Given the description of an element on the screen output the (x, y) to click on. 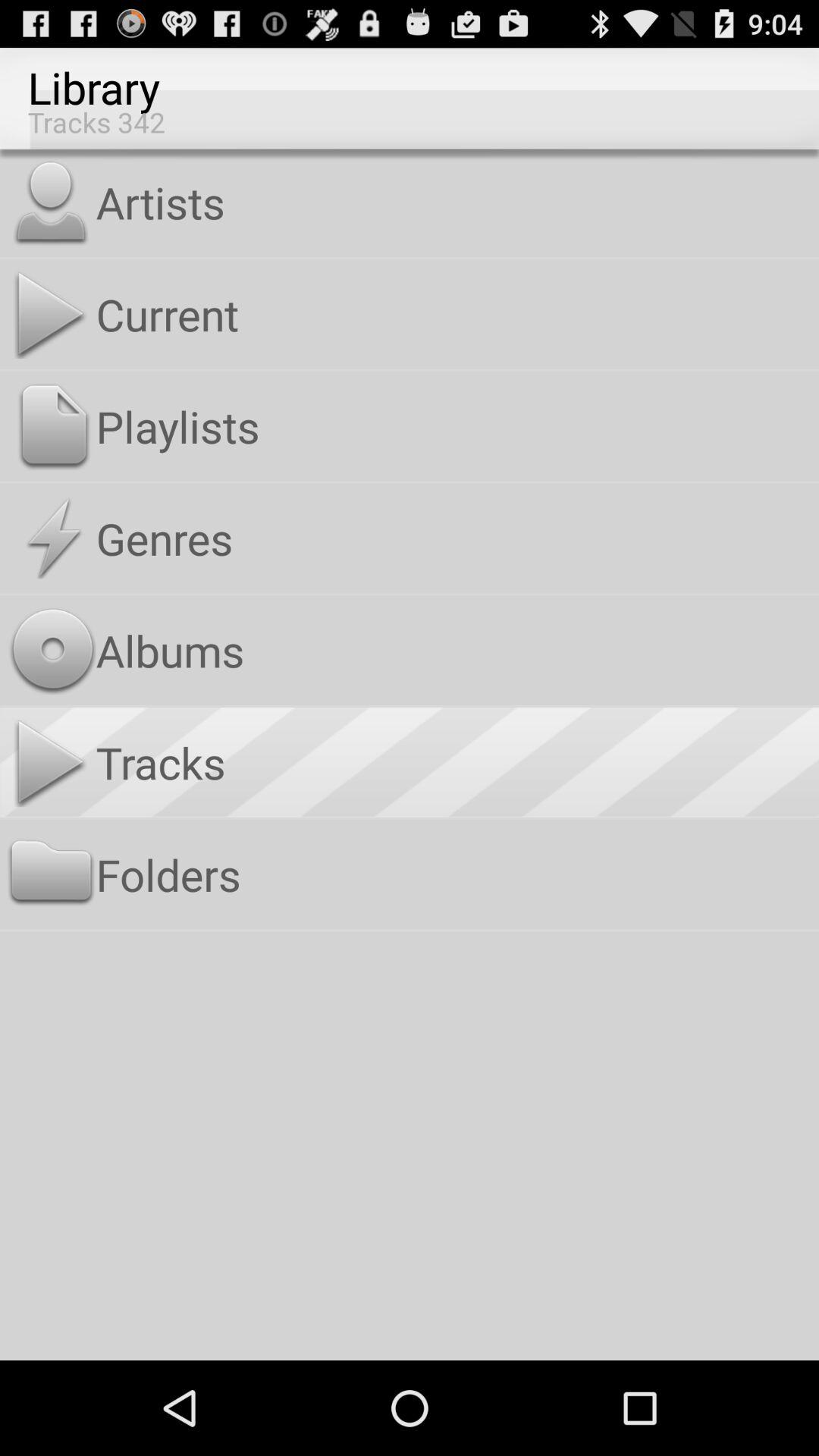
turn off the folders app (454, 874)
